Given the description of an element on the screen output the (x, y) to click on. 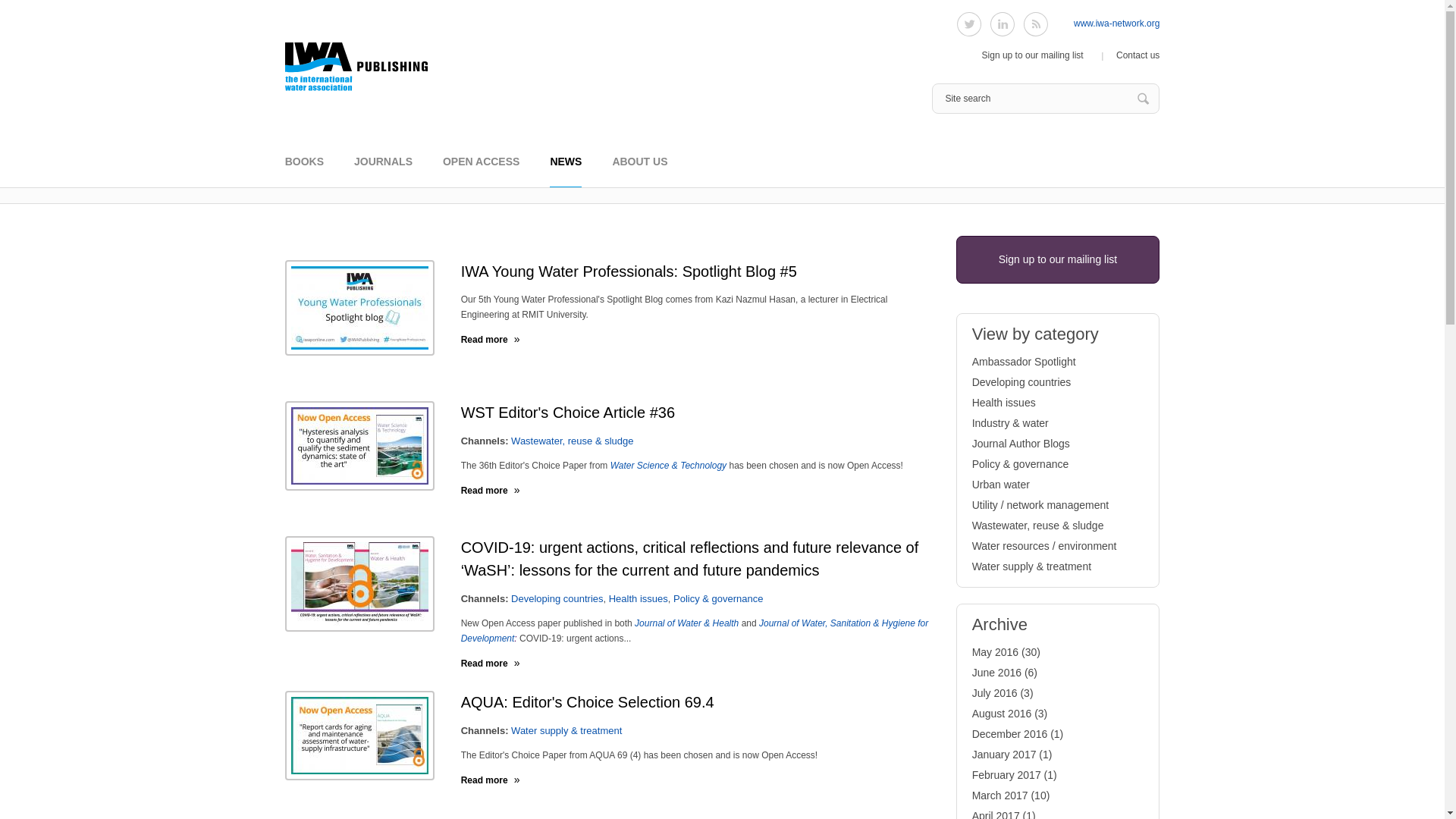
Search (1143, 98)
IWA Publications (357, 66)
Twitter (968, 23)
BOOKS (304, 170)
Contact us (1137, 55)
Join our LinkedIn newtwork (1002, 23)
LinkedIn (1002, 23)
JOURNALS (382, 170)
Subscribe to our RSS feeds (1035, 23)
www.iwa-network.org (1116, 23)
